Given the description of an element on the screen output the (x, y) to click on. 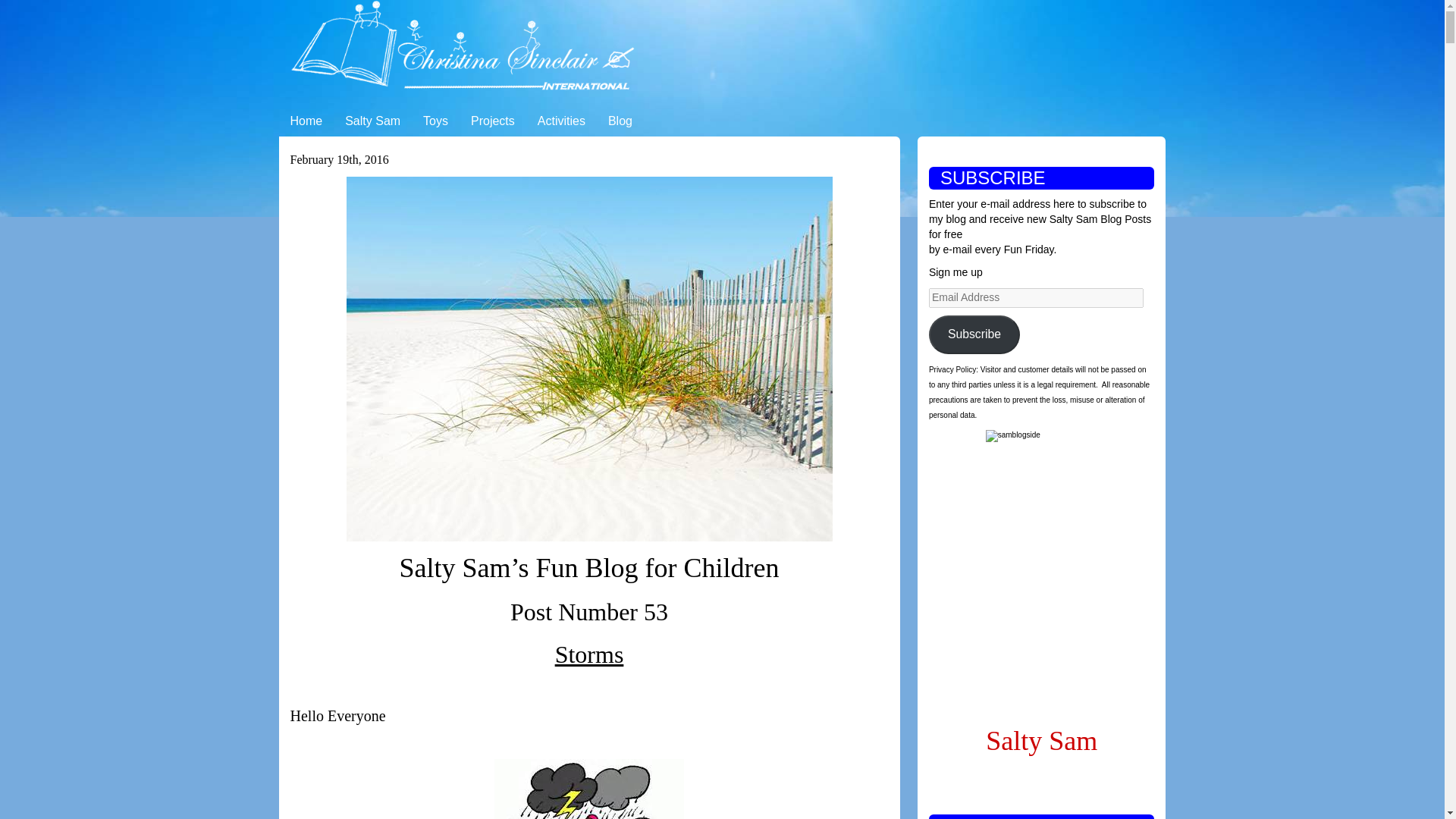
Home (306, 121)
Toys (436, 121)
Blog (619, 121)
Salty Sam (372, 121)
Activities (560, 121)
Projects (492, 121)
